Given the description of an element on the screen output the (x, y) to click on. 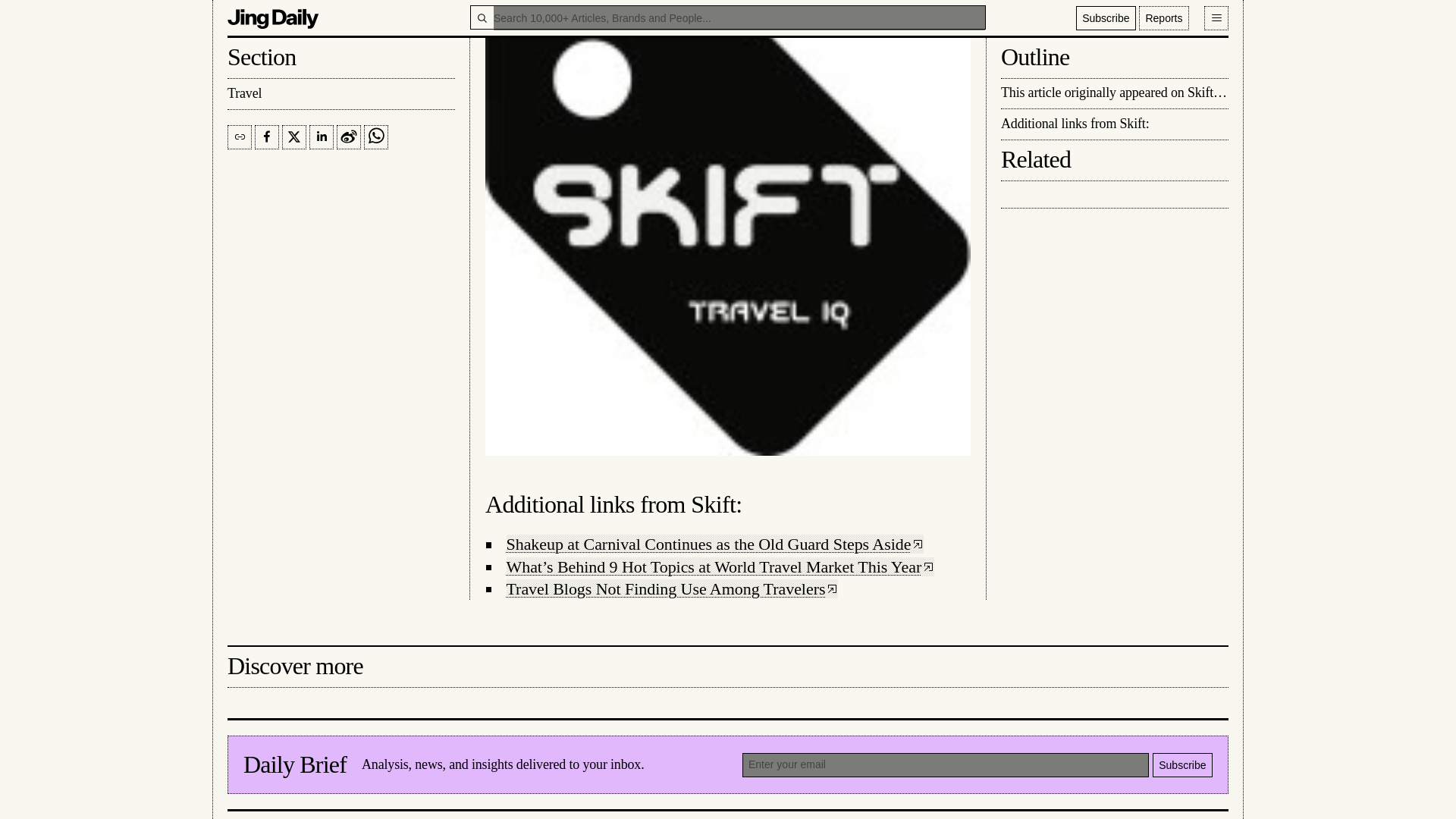
Shakeup at Carnival Continues as the Old Guard Steps Aside (715, 543)
Subscribe (1182, 764)
Additional links from Skift: (613, 503)
Travel Blogs Not Finding Use Among Travelers (672, 588)
